Given the description of an element on the screen output the (x, y) to click on. 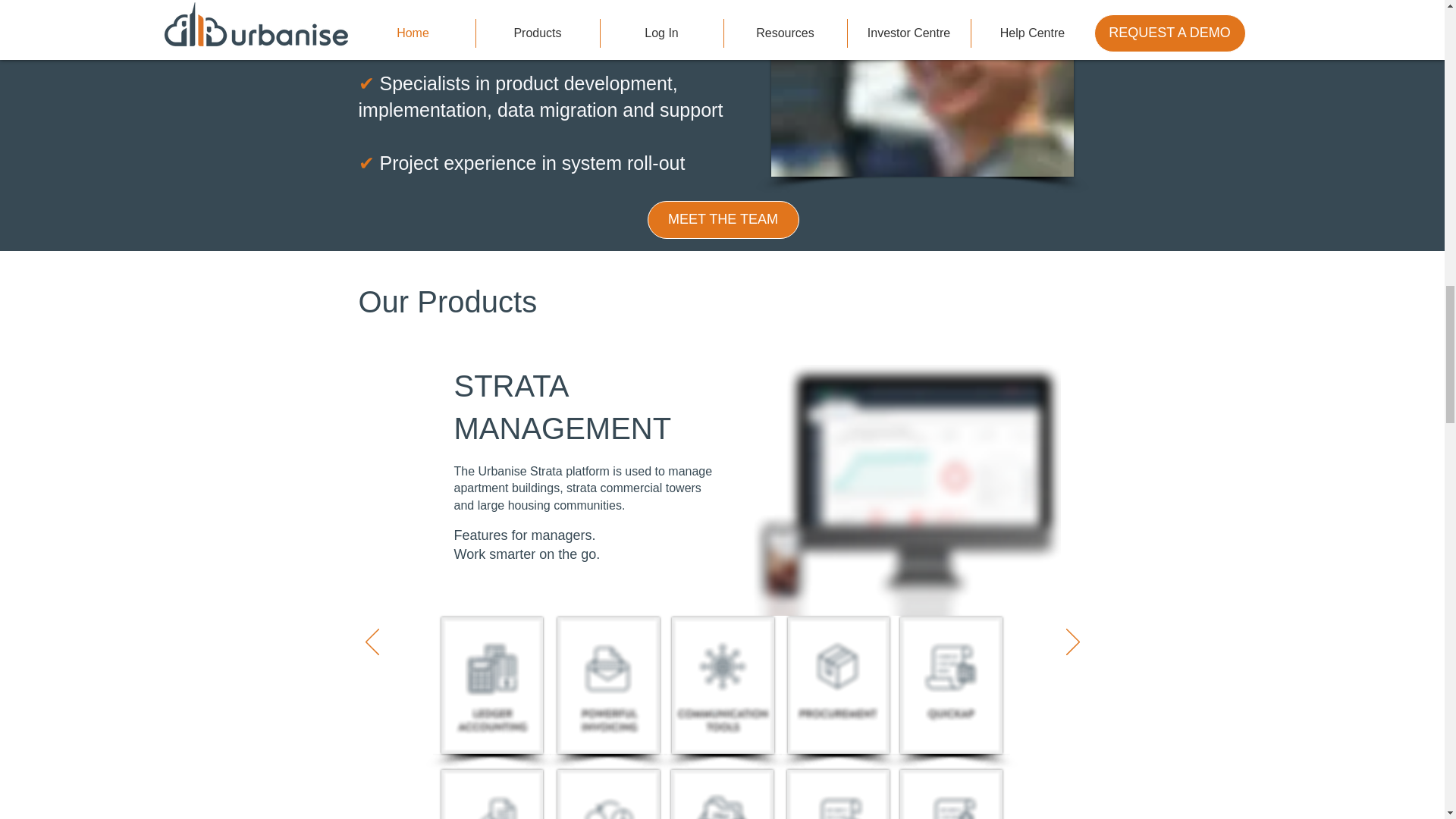
MEET THE TEAM (723, 219)
